Given the description of an element on the screen output the (x, y) to click on. 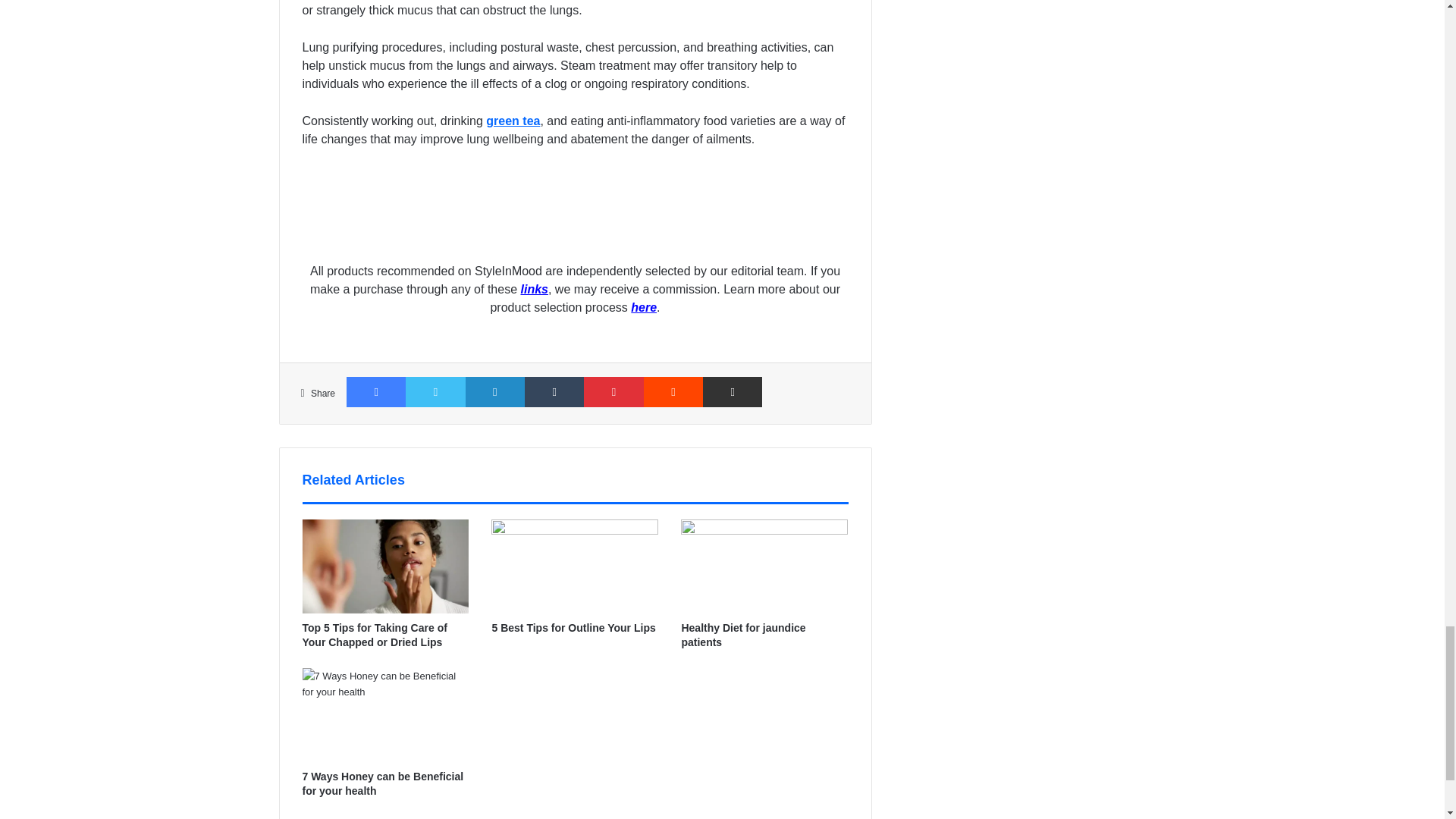
Reddit (673, 391)
LinkedIn (494, 391)
Twitter (435, 391)
green tea (513, 120)
Tumblr (553, 391)
Pinterest (613, 391)
green tea (513, 120)
here (643, 307)
links (533, 288)
Facebook (376, 391)
